Given the description of an element on the screen output the (x, y) to click on. 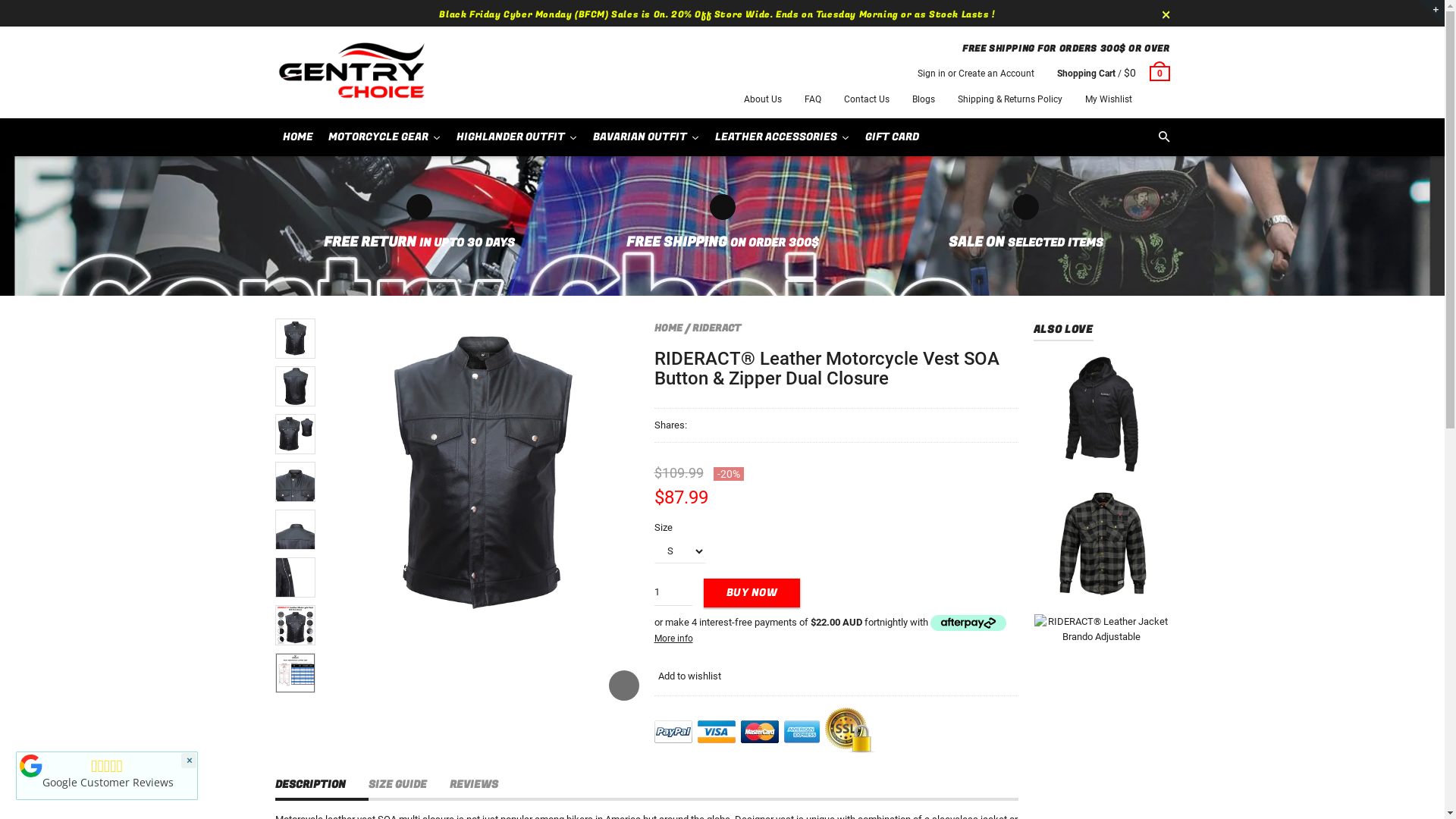
Add to wishlist Element type: text (686, 676)
Blogs Element type: text (922, 99)
SIZE GUIDE Element type: text (408, 785)
HOME Element type: text (297, 137)
FAQ Element type: text (811, 99)
BAVARIAN OUTFIT Element type: text (646, 137)
About Us Element type: text (762, 99)
Contact Us Element type: text (865, 99)
GIFT CARD Element type: text (890, 137)
My Wishlist Element type: text (1107, 99)
 Google Customer Reviews Element type: text (106, 782)
GCR Element type: hover (30, 765)
BUY NOW Element type: text (751, 592)
Gentry Choice Element type: hover (350, 72)
More info Element type: text (672, 637)
HOME Element type: text (667, 327)
MOTORCYCLE GEAR Element type: text (384, 137)
Shipping & Returns Policy Element type: text (1009, 99)
LEATHER ACCESSORIES Element type: text (781, 137)
Quantity Element type: hover (672, 591)
REVIEWS Element type: text (484, 785)
Sign in or Create an Account Element type: text (975, 73)
RIDERACT Element type: text (715, 327)
Shopping Cart / $0 0 Element type: text (1113, 73)
HIGHLANDER OUTFIT Element type: text (516, 137)
DESCRIPTION Element type: text (320, 785)
